Given the description of an element on the screen output the (x, y) to click on. 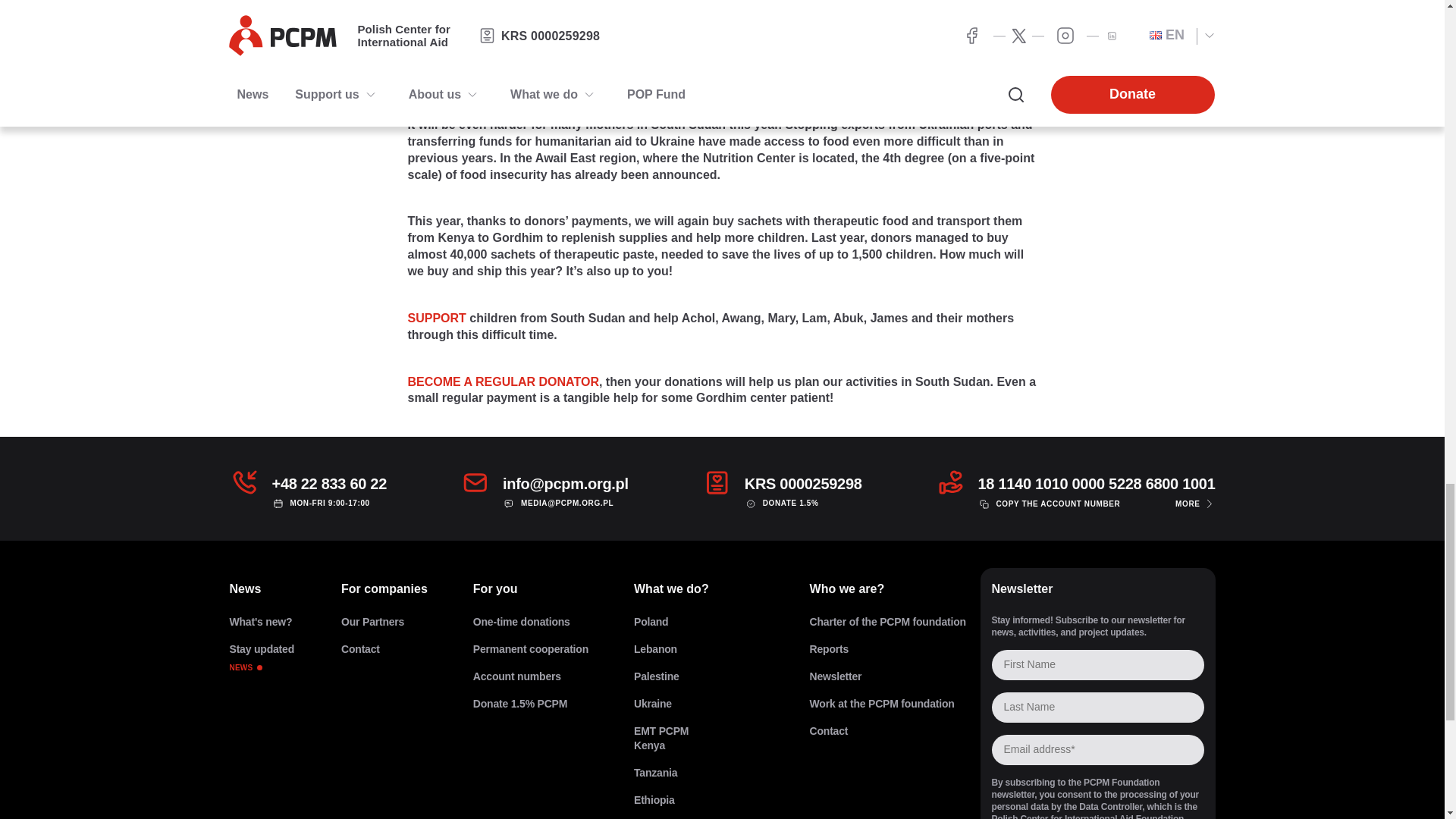
Contact (261, 657)
SUPPORT (384, 649)
What's new? (436, 318)
BECOME A REGULAR DONATOR (261, 622)
Our Partners (502, 380)
MORE (384, 622)
